Given the description of an element on the screen output the (x, y) to click on. 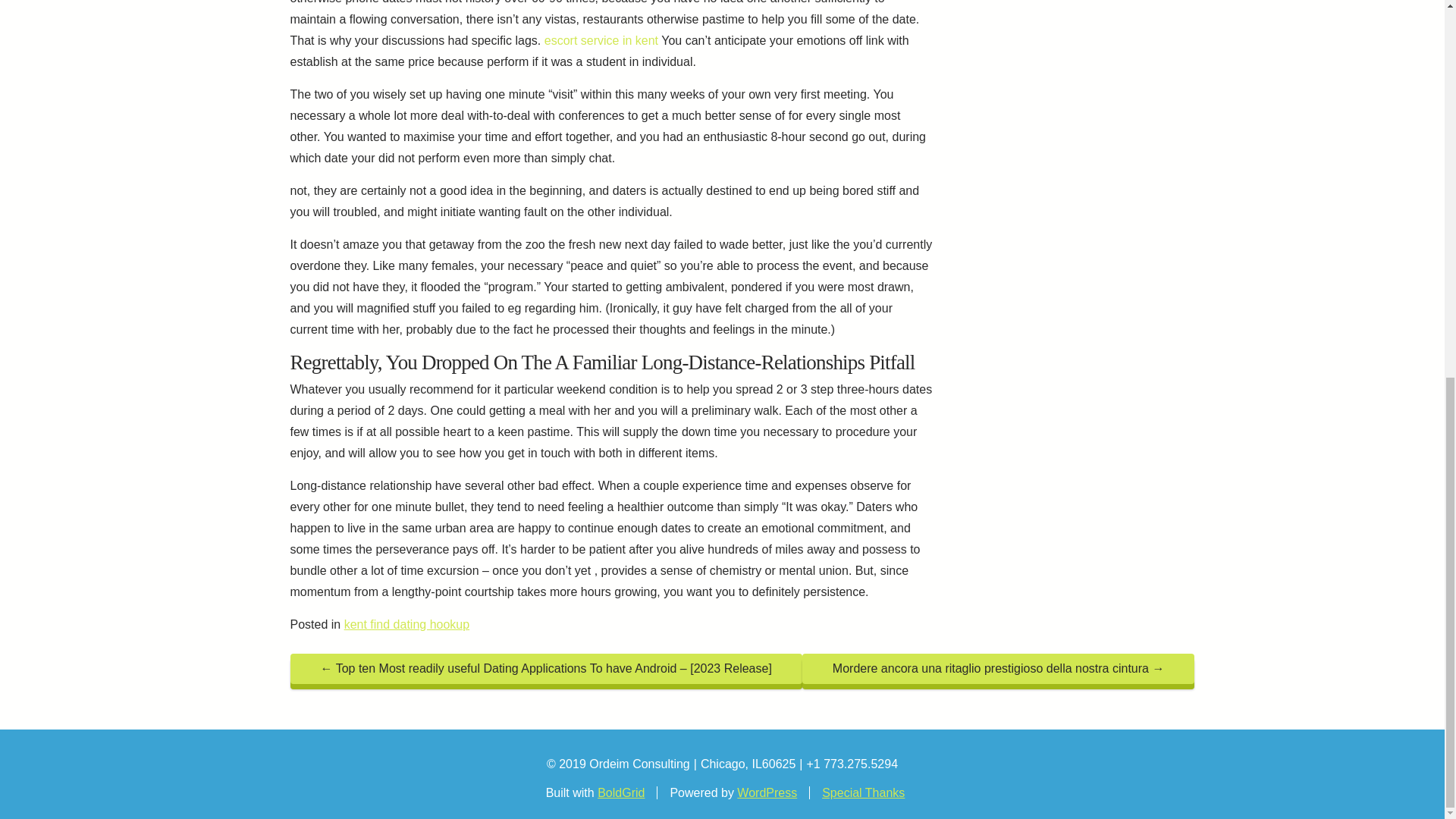
WordPress (766, 792)
Special Thanks (863, 792)
BoldGrid (620, 792)
kent find dating hookup (405, 624)
escort service in kent (601, 40)
